Given the description of an element on the screen output the (x, y) to click on. 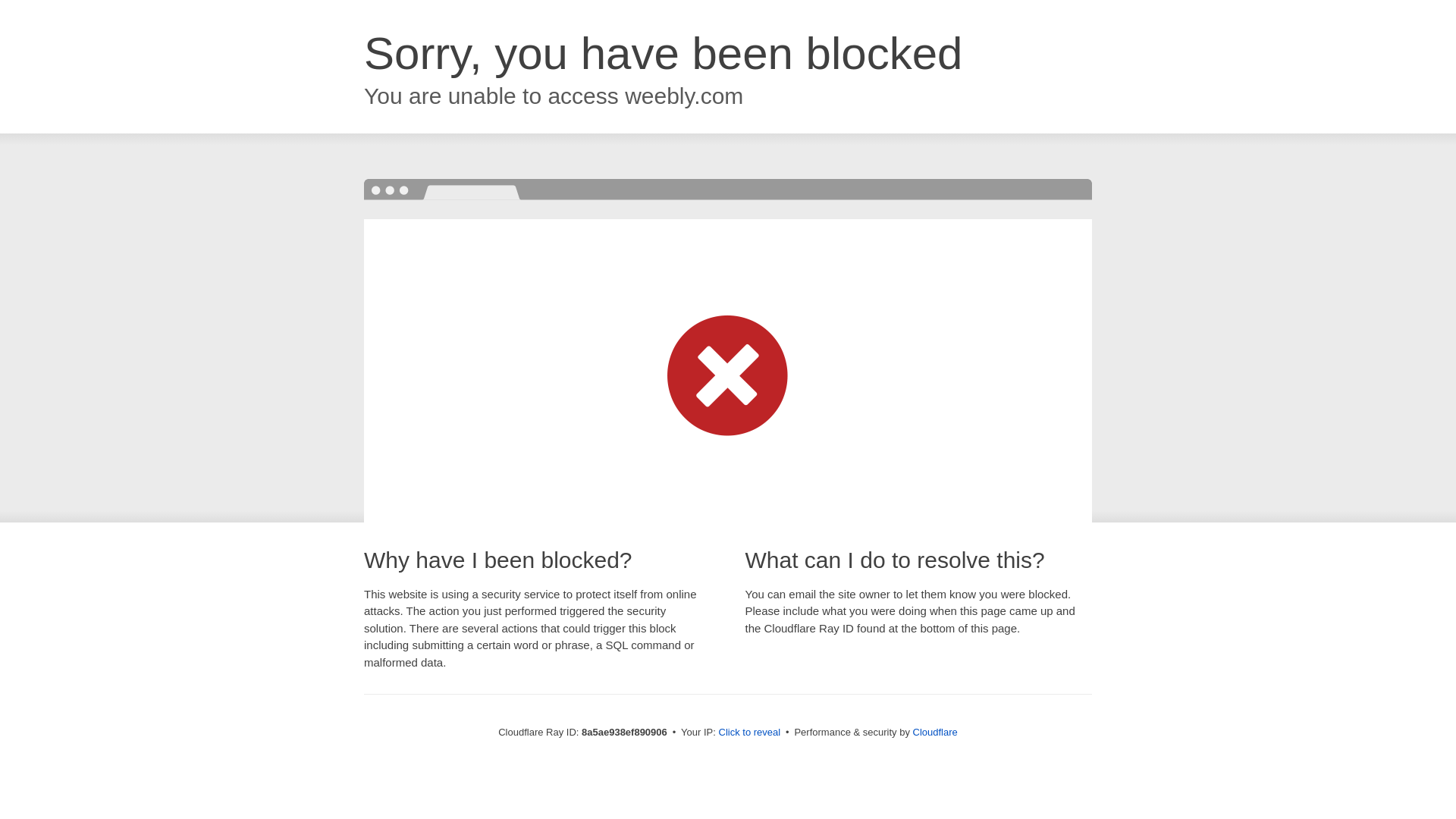
Click to reveal (749, 732)
Cloudflare (935, 731)
